Given the description of an element on the screen output the (x, y) to click on. 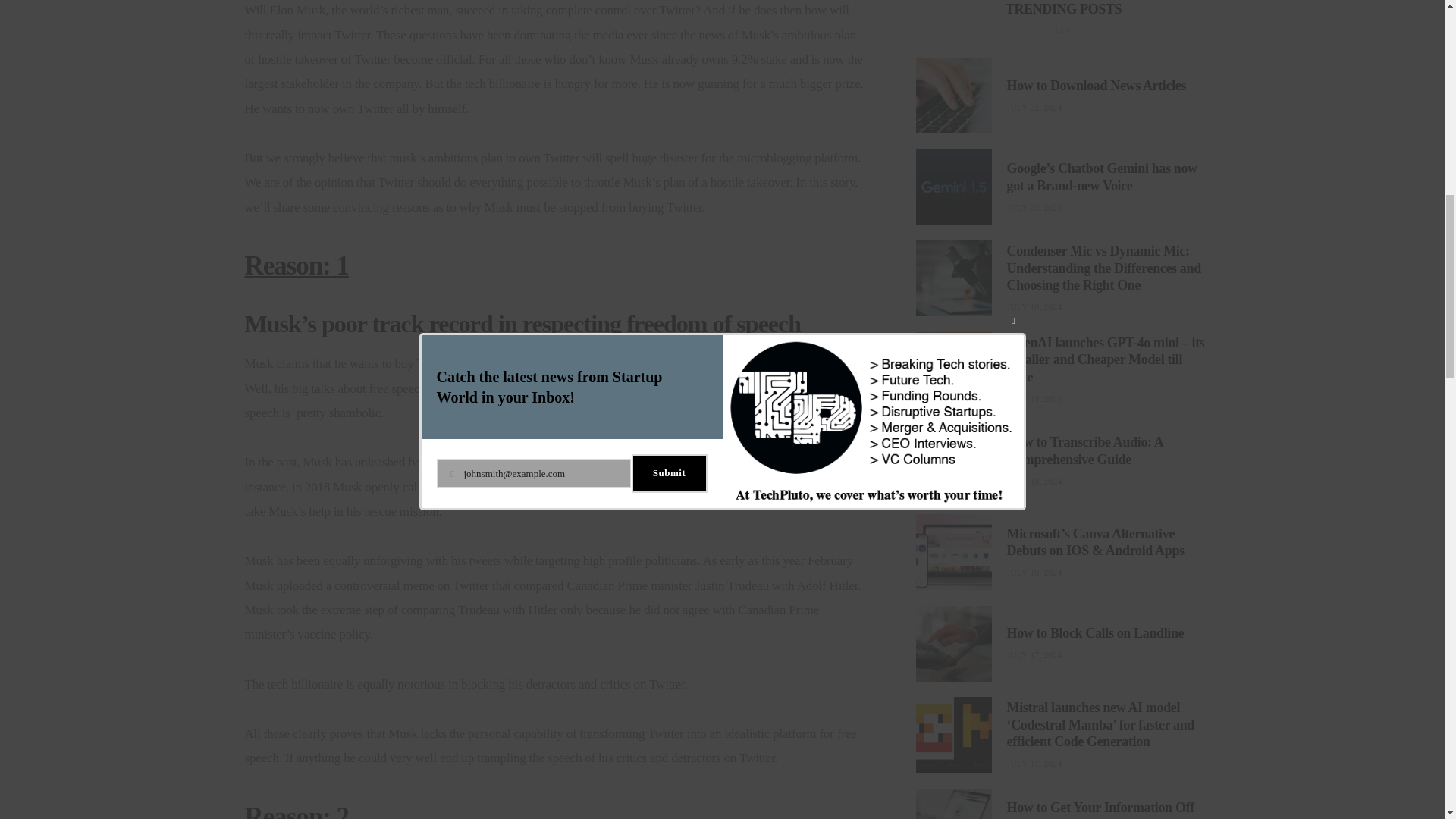
Get the latest kitchen gadgets (979, 654)
